Given the description of an element on the screen output the (x, y) to click on. 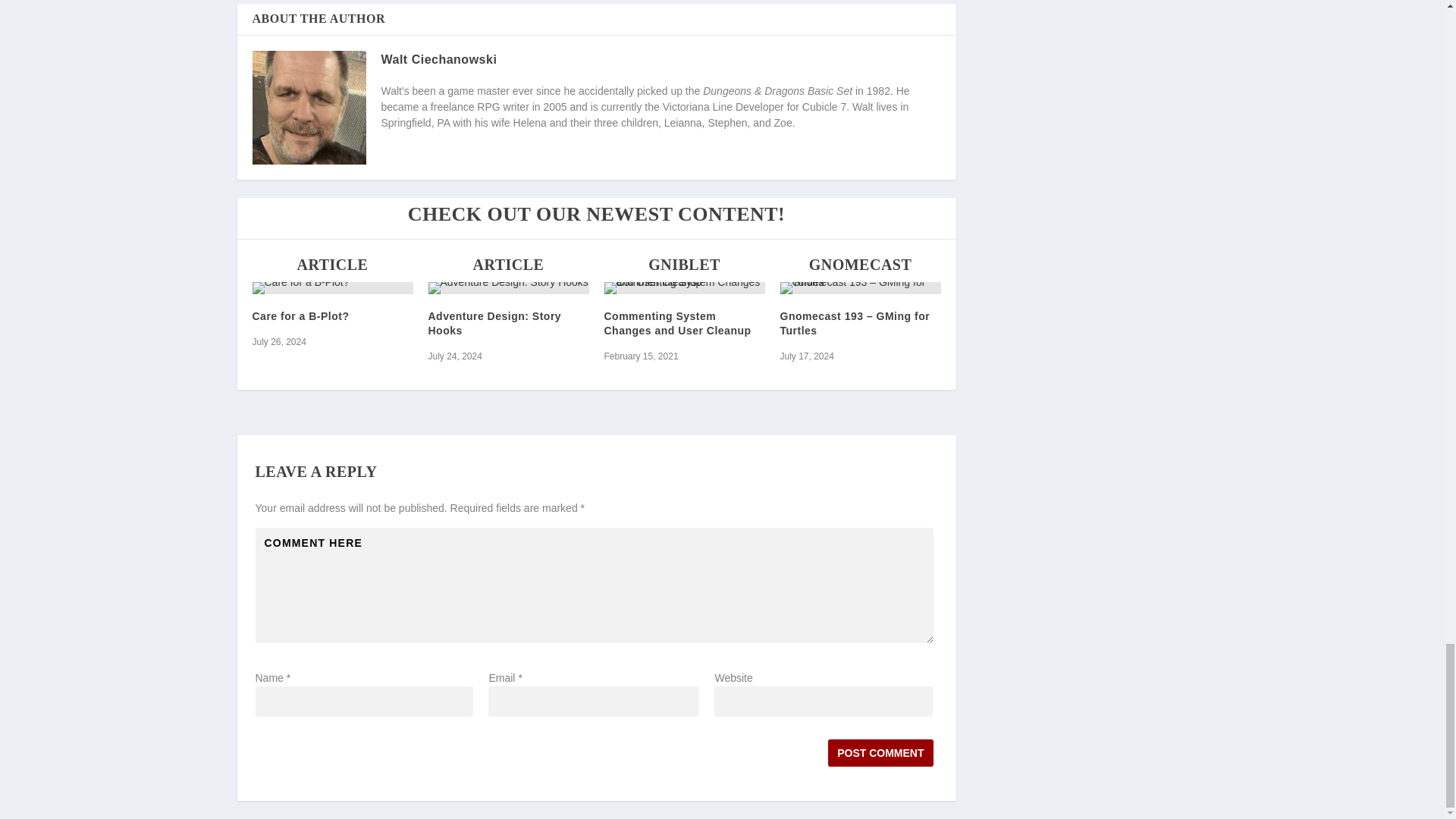
Commenting System Changes and User Cleanup (684, 287)
View all posts by Walt Ciechanowski (438, 59)
Care for a B-Plot? (331, 287)
Post Comment (880, 752)
Adventure Design: Story Hooks (508, 287)
